Given the description of an element on the screen output the (x, y) to click on. 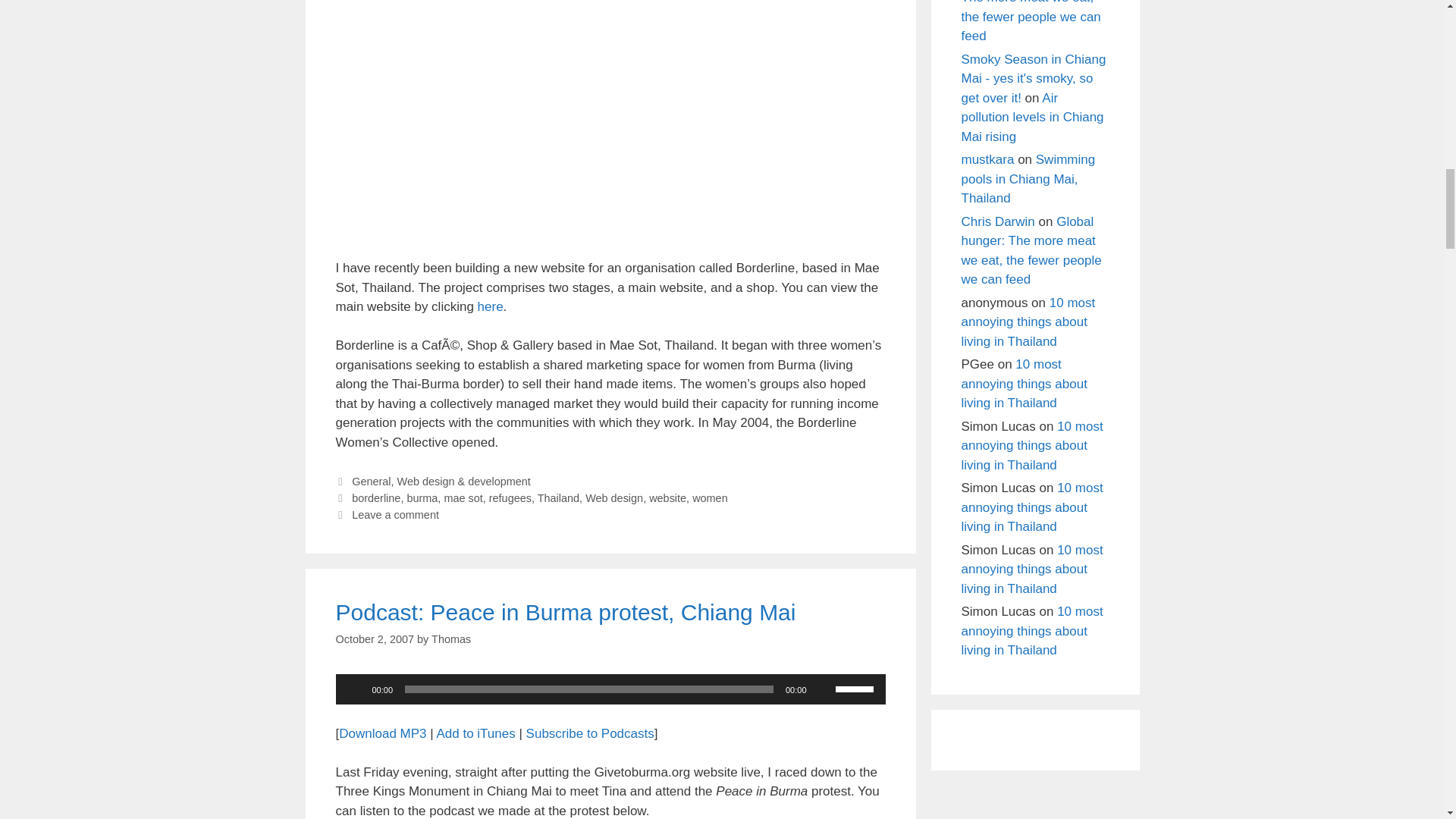
Mute (823, 688)
Play (354, 688)
View all posts by Thomas (450, 639)
1:00 pm (373, 639)
